Given the description of an element on the screen output the (x, y) to click on. 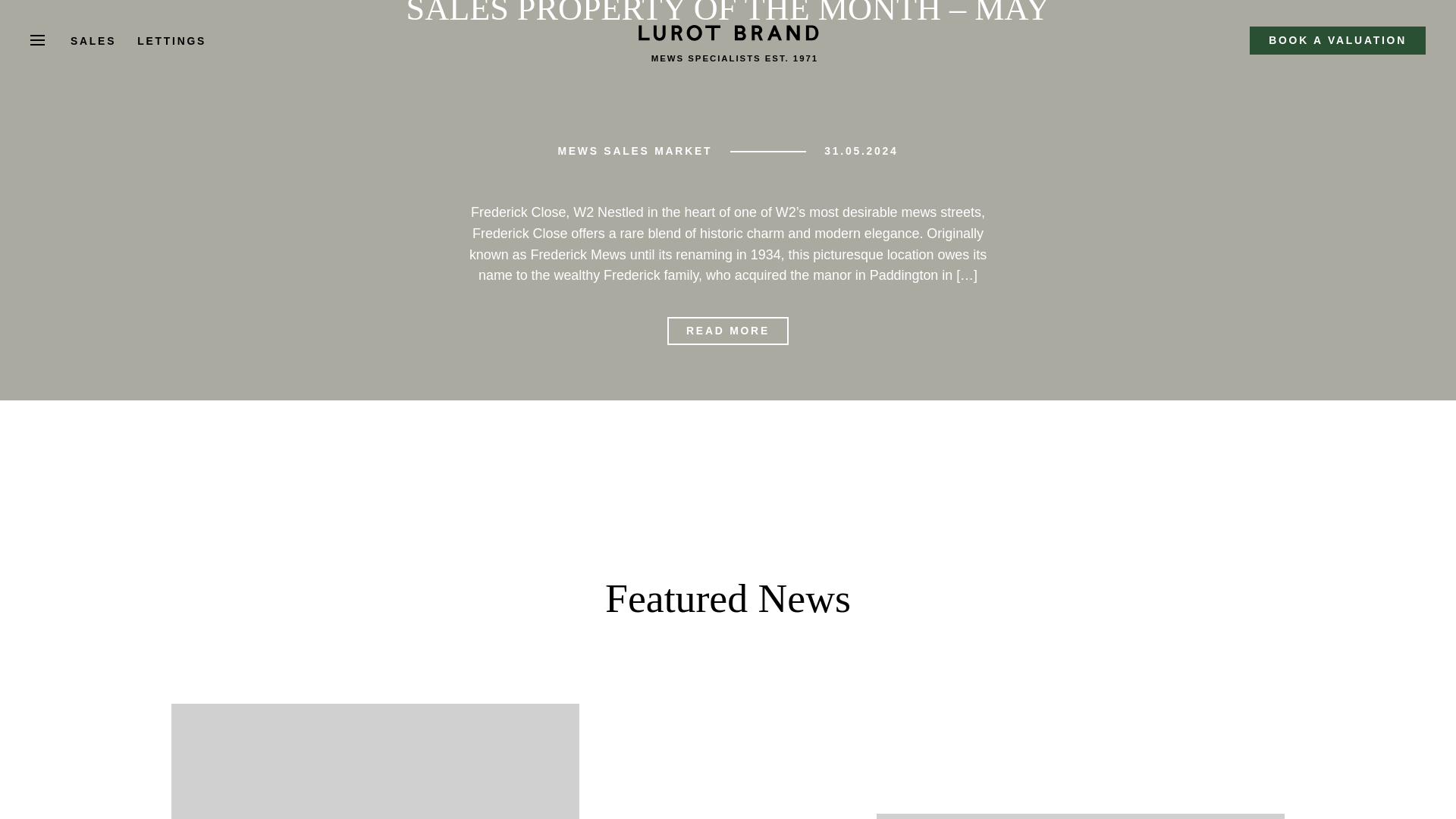
Mews Sales Market (634, 150)
Read More (727, 330)
